Given the description of an element on the screen output the (x, y) to click on. 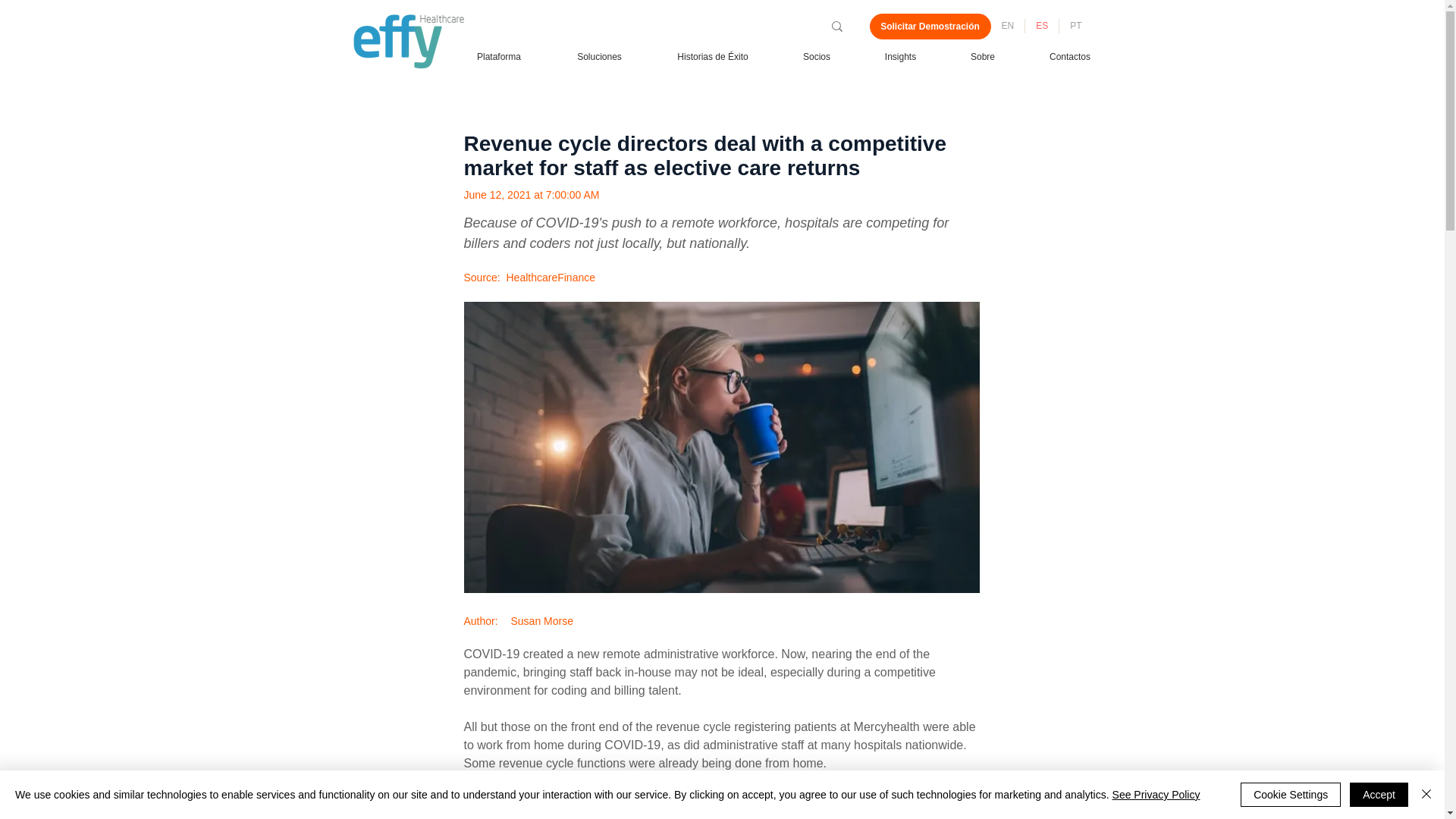
Contactos (1070, 56)
EN (1007, 25)
Soluciones (598, 56)
See Privacy Policy (1155, 794)
Socios (816, 56)
Insights (900, 56)
Plataforma (499, 56)
PT (1075, 25)
ES (1041, 25)
Accept (1378, 794)
Cookie Settings (1290, 794)
Sobre (982, 56)
